Given the description of an element on the screen output the (x, y) to click on. 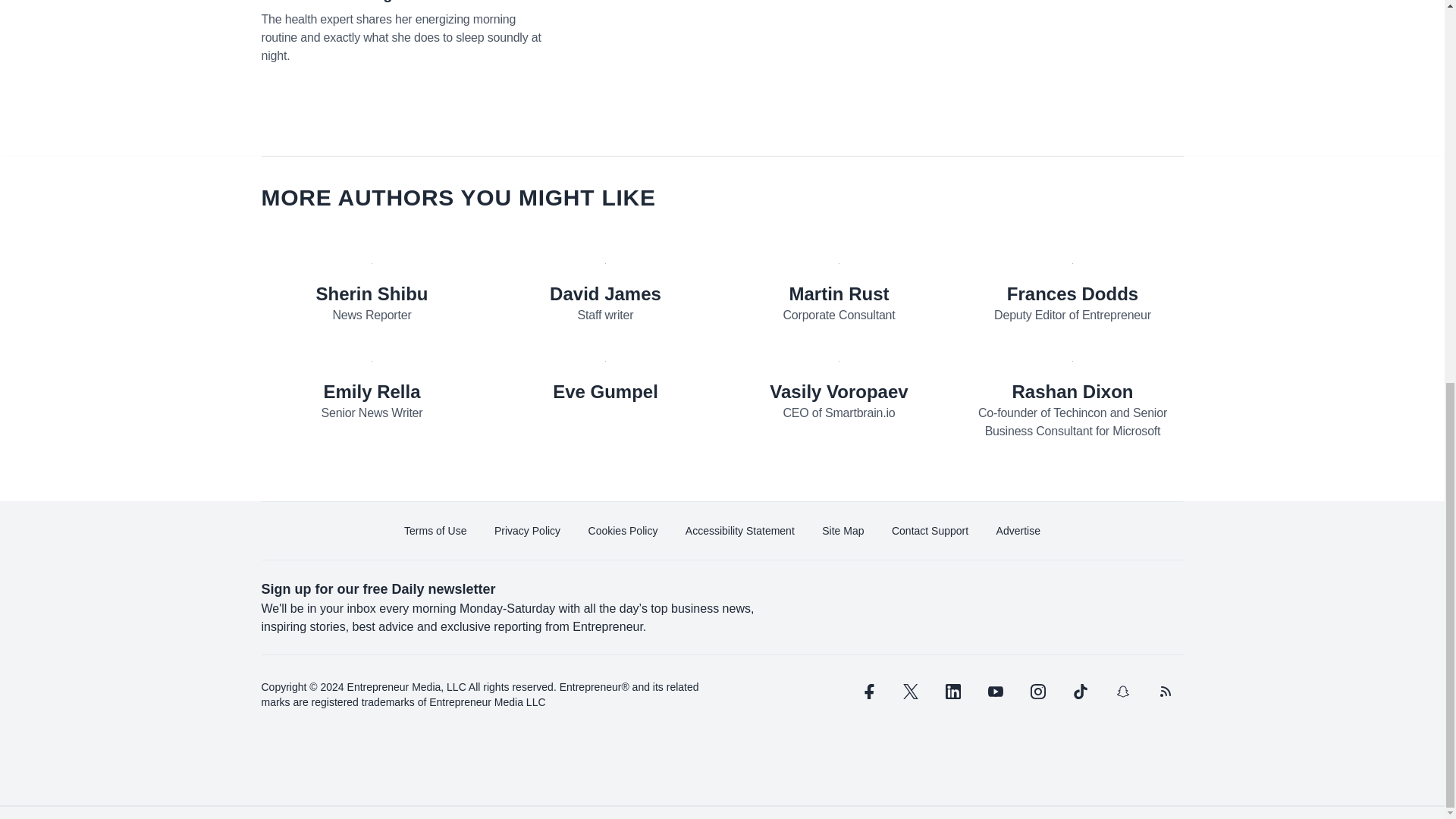
youtube (994, 691)
facebook (866, 691)
twitter (909, 691)
rss (1164, 691)
tiktok (1079, 691)
linkedin (952, 691)
snapchat (1121, 691)
instagram (1037, 691)
